Given the description of an element on the screen output the (x, y) to click on. 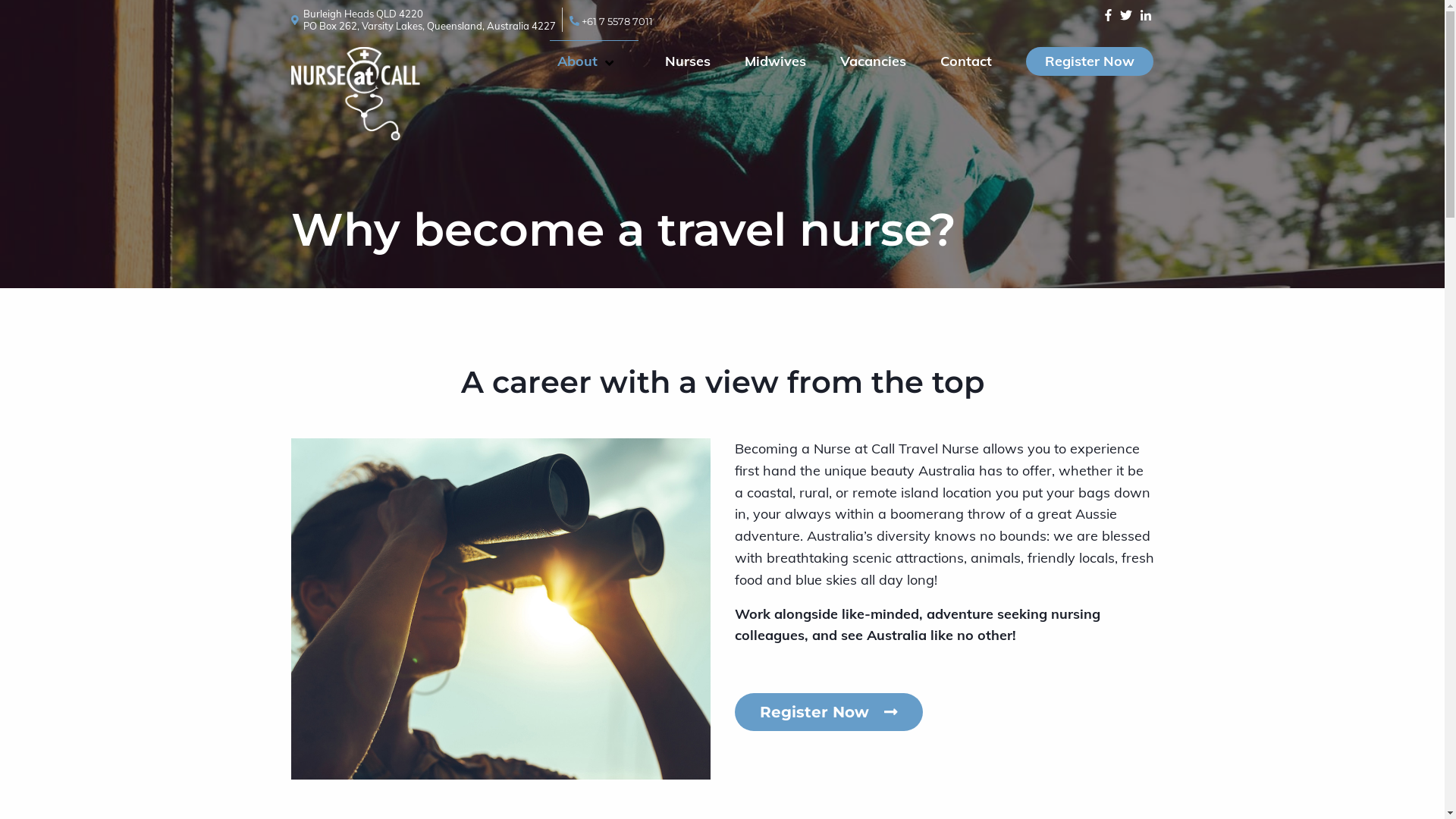
Register Now Element type: text (828, 712)
+61 7 5578 7011 Element type: text (610, 21)
Nurses Element type: text (687, 61)
Midwives Element type: text (775, 61)
Contact Element type: text (965, 61)
Vacancies Element type: text (873, 61)
About Element type: text (586, 61)
Register Now Element type: text (1089, 61)
